Given the description of an element on the screen output the (x, y) to click on. 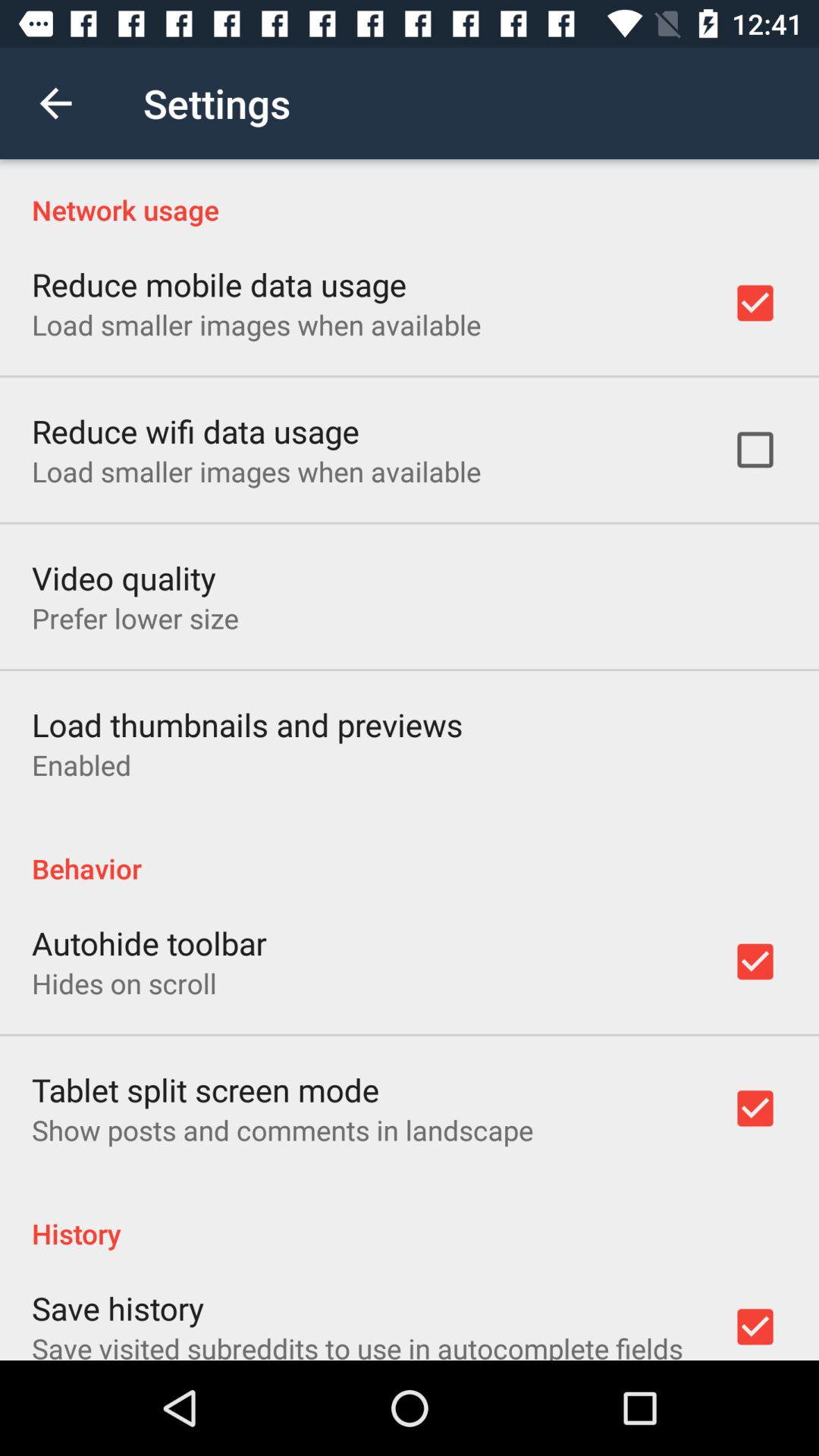
open the icon below the load thumbnails and item (81, 764)
